Given the description of an element on the screen output the (x, y) to click on. 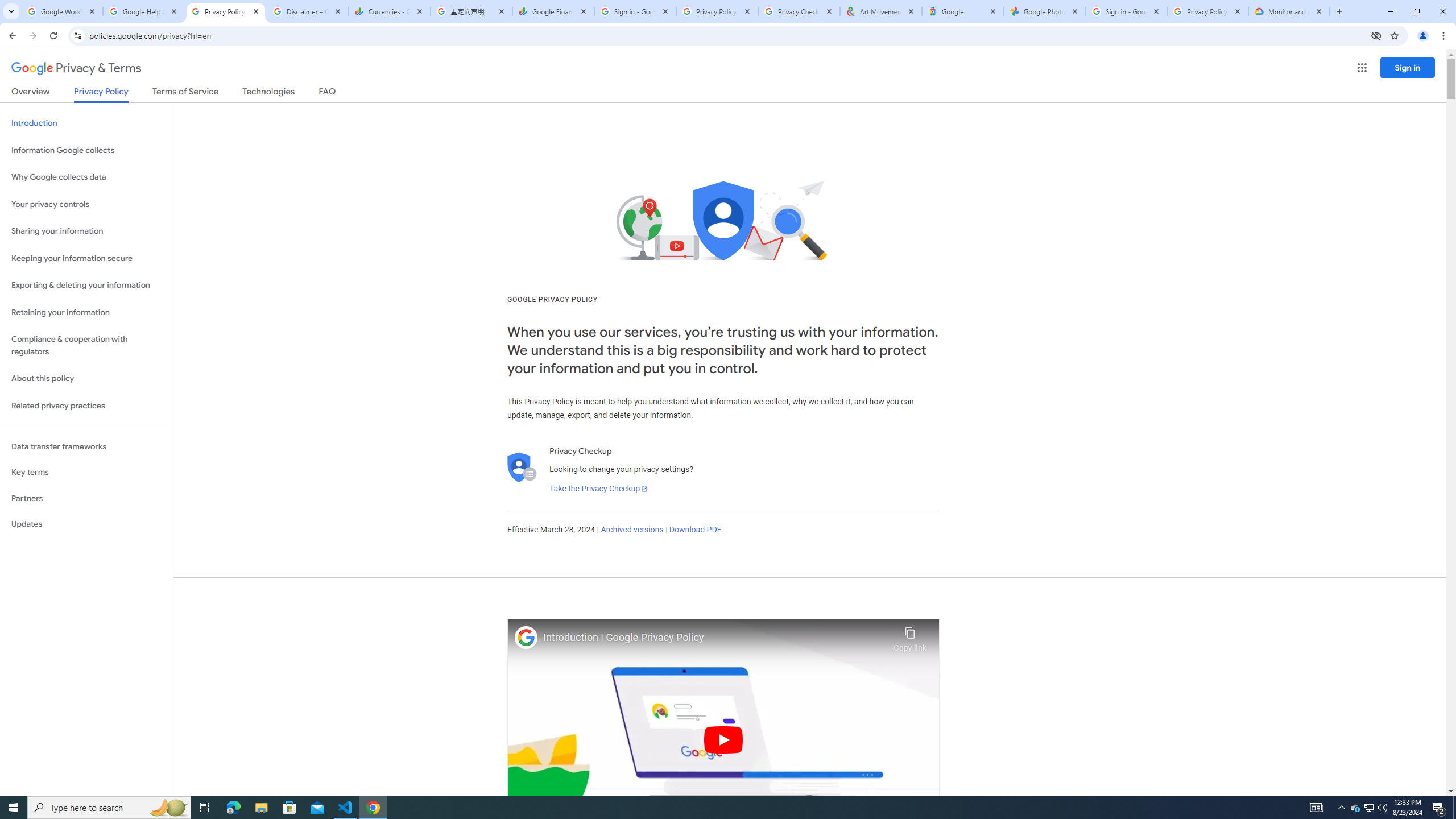
Sign in - Google Accounts (635, 11)
Archived versions (631, 529)
Retaining your information (86, 312)
Currencies - Google Finance (389, 11)
Photo image of Google (526, 636)
